Given the description of an element on the screen output the (x, y) to click on. 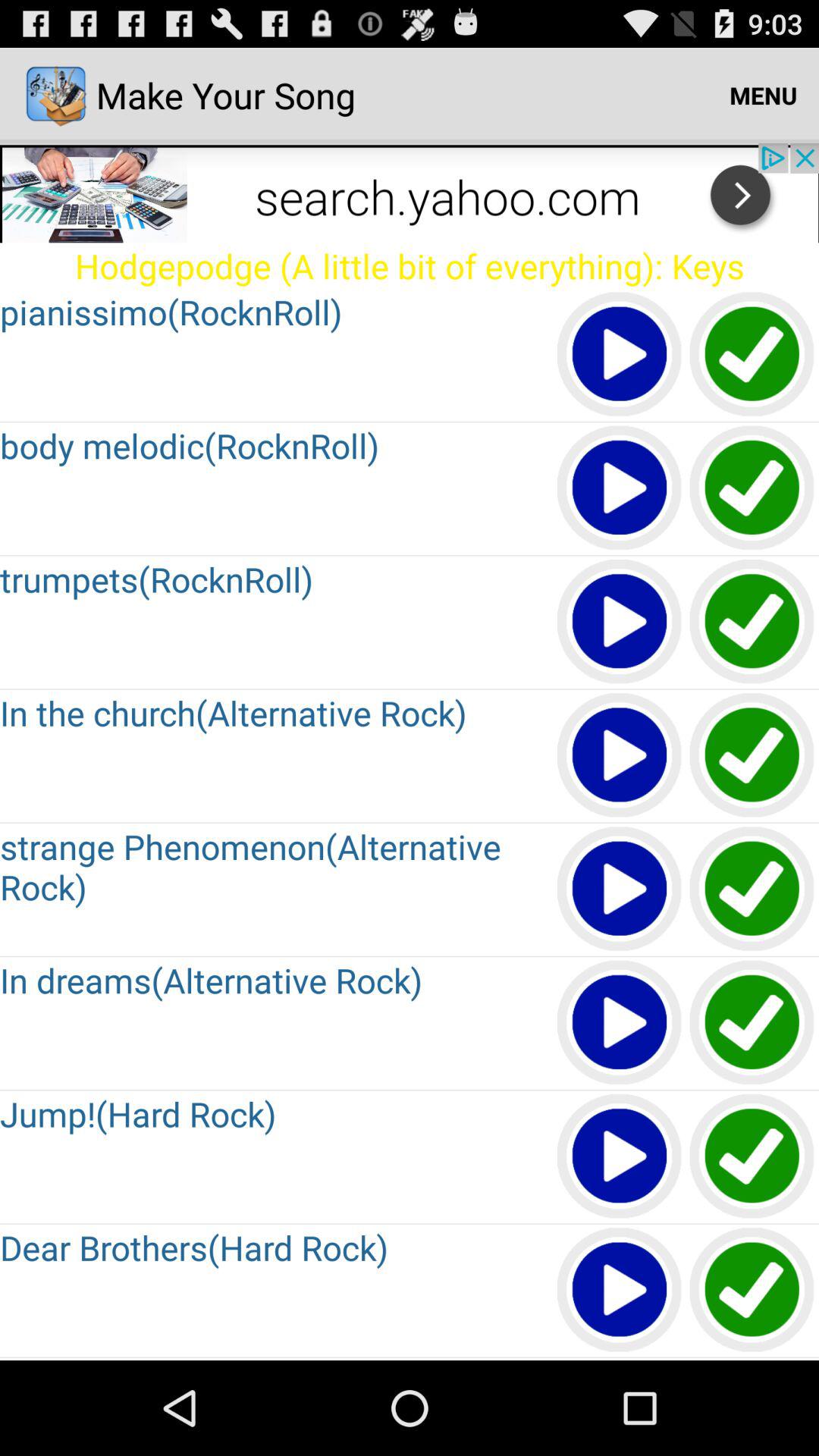
play option (619, 1156)
